Given the description of an element on the screen output the (x, y) to click on. 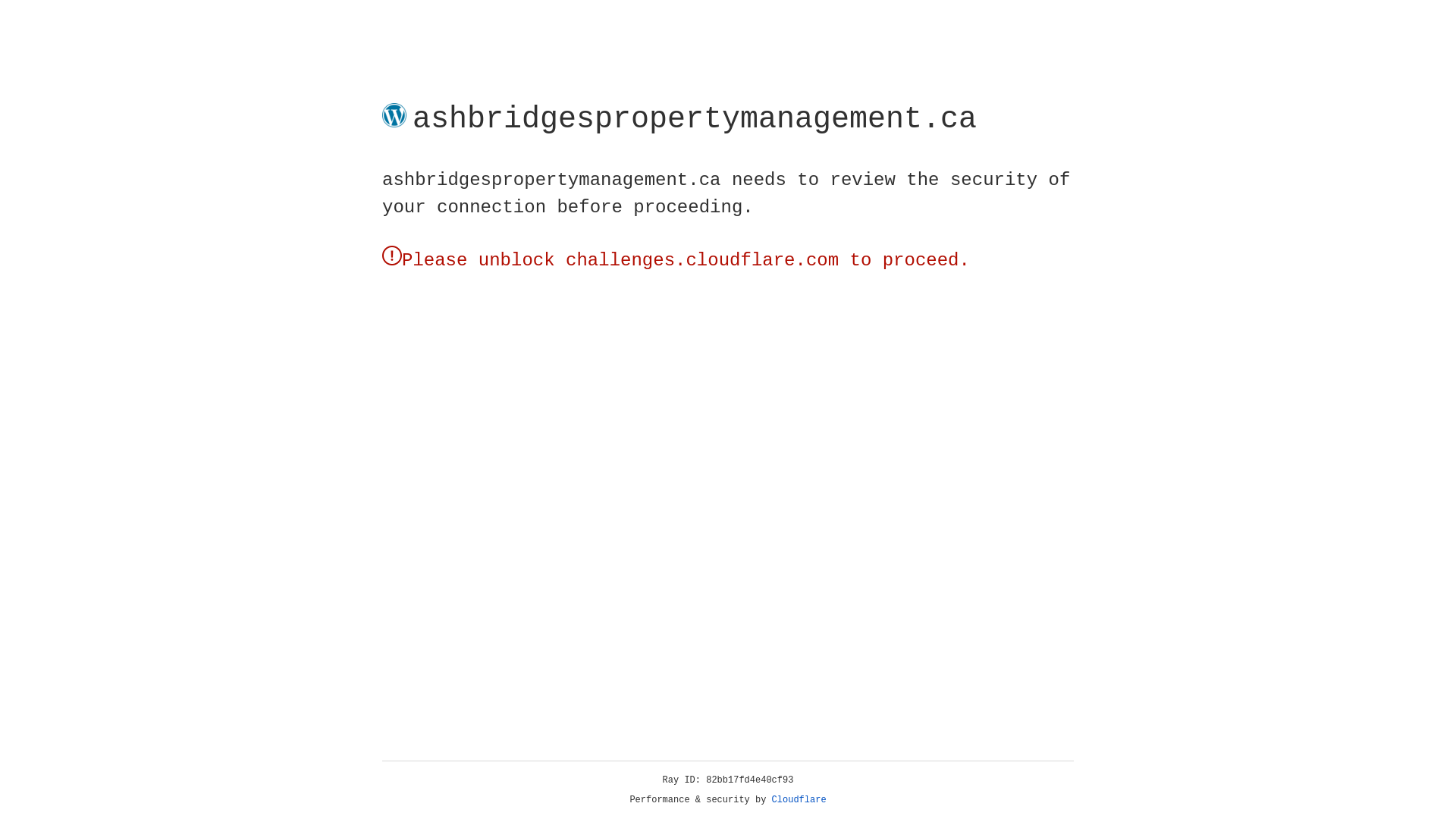
Cloudflare Element type: text (165, 146)
